Given the description of an element on the screen output the (x, y) to click on. 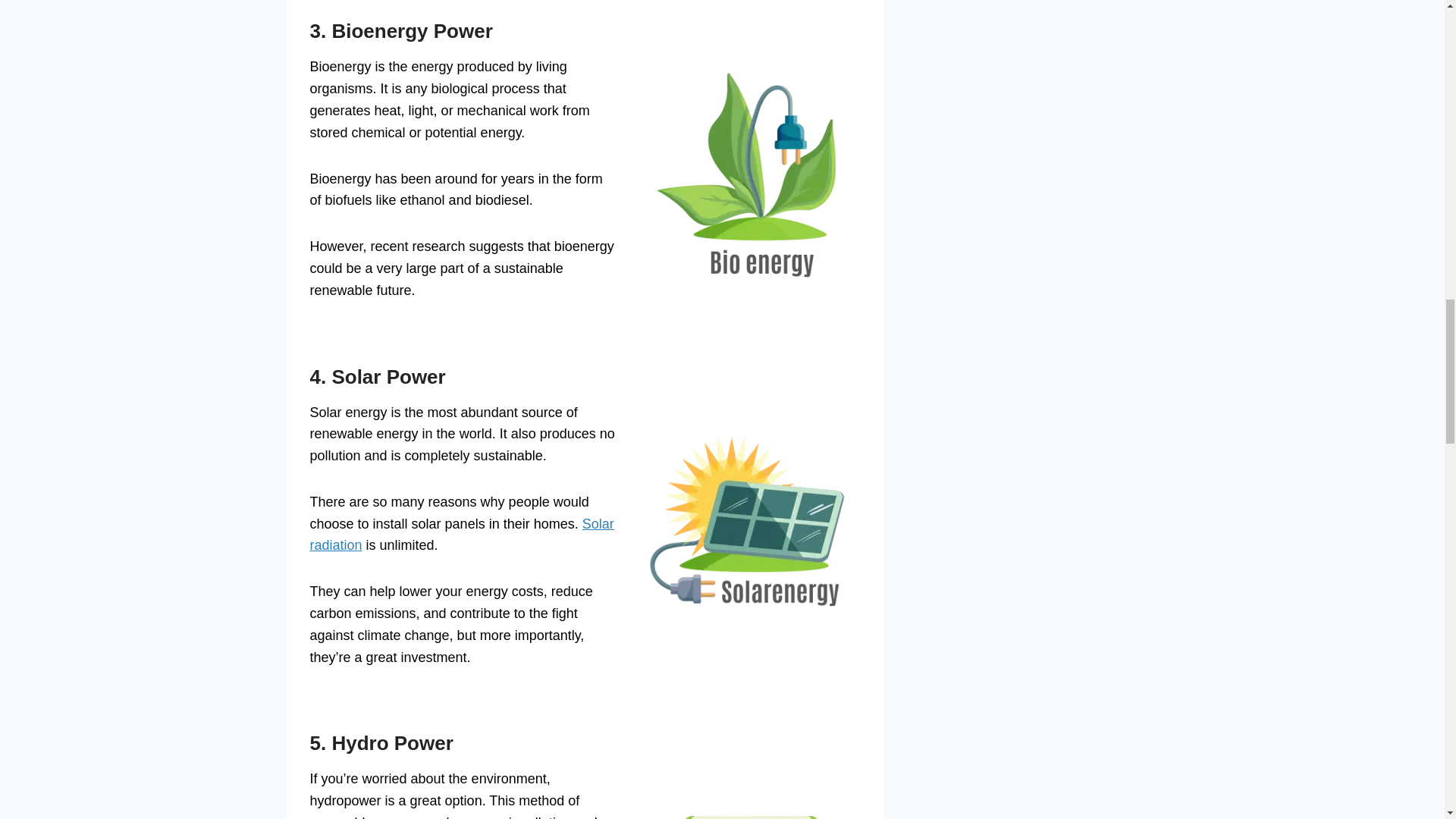
Solar radiation (460, 534)
